Given the description of an element on the screen output the (x, y) to click on. 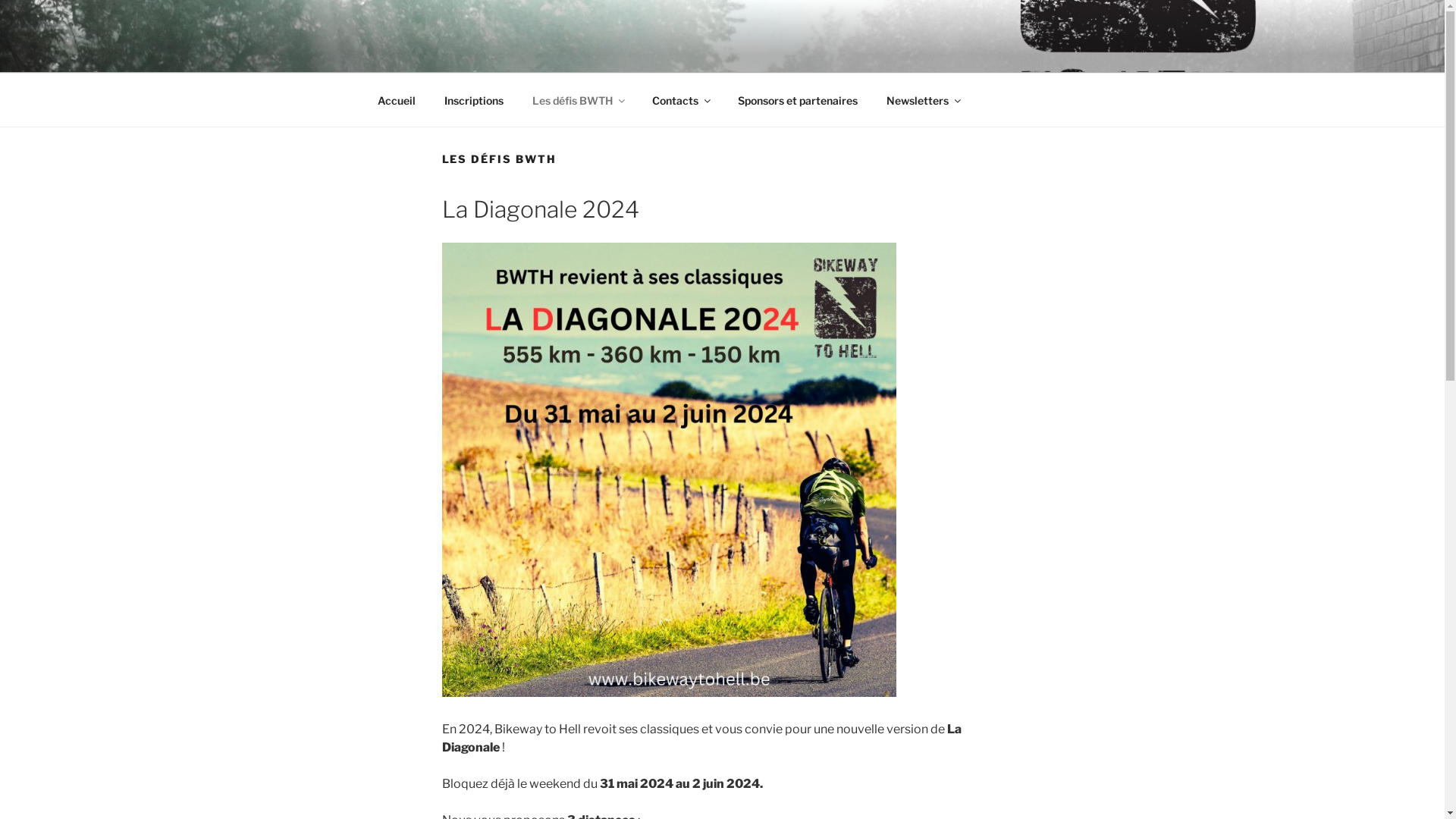
Sponsors et partenaires Element type: text (797, 100)
BIKEWAY TO HELL Element type: text (523, 52)
Contacts Element type: text (679, 100)
Inscriptions Element type: text (473, 100)
Accueil Element type: text (396, 100)
Newsletters Element type: text (922, 100)
